Given the description of an element on the screen output the (x, y) to click on. 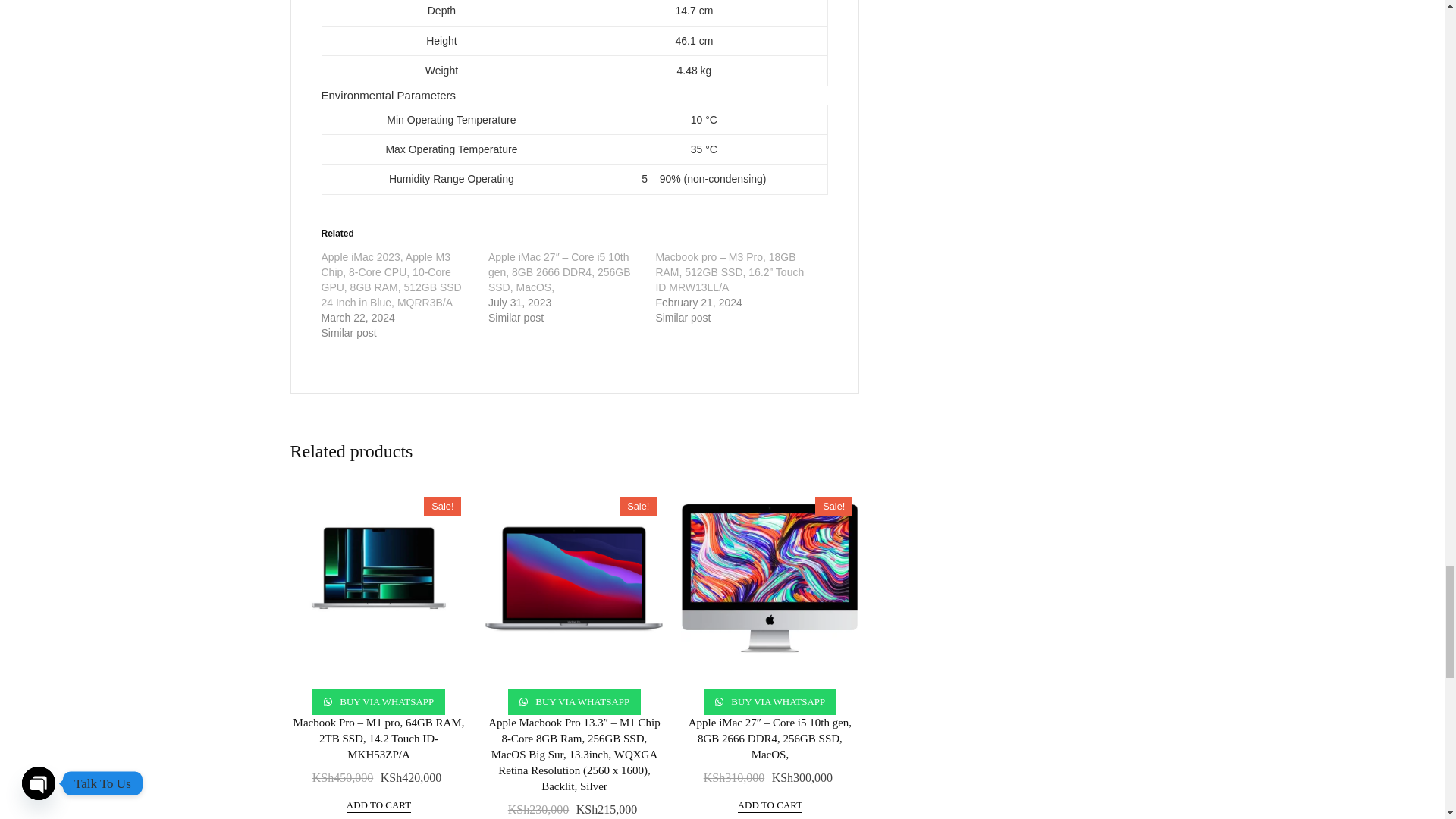
Complete order on WhatsApp to buy Apple Macbook Pro 13.3 (575, 701)
Complete order on WhatsApp to buy Apple iMac 27 (770, 701)
